Given the description of an element on the screen output the (x, y) to click on. 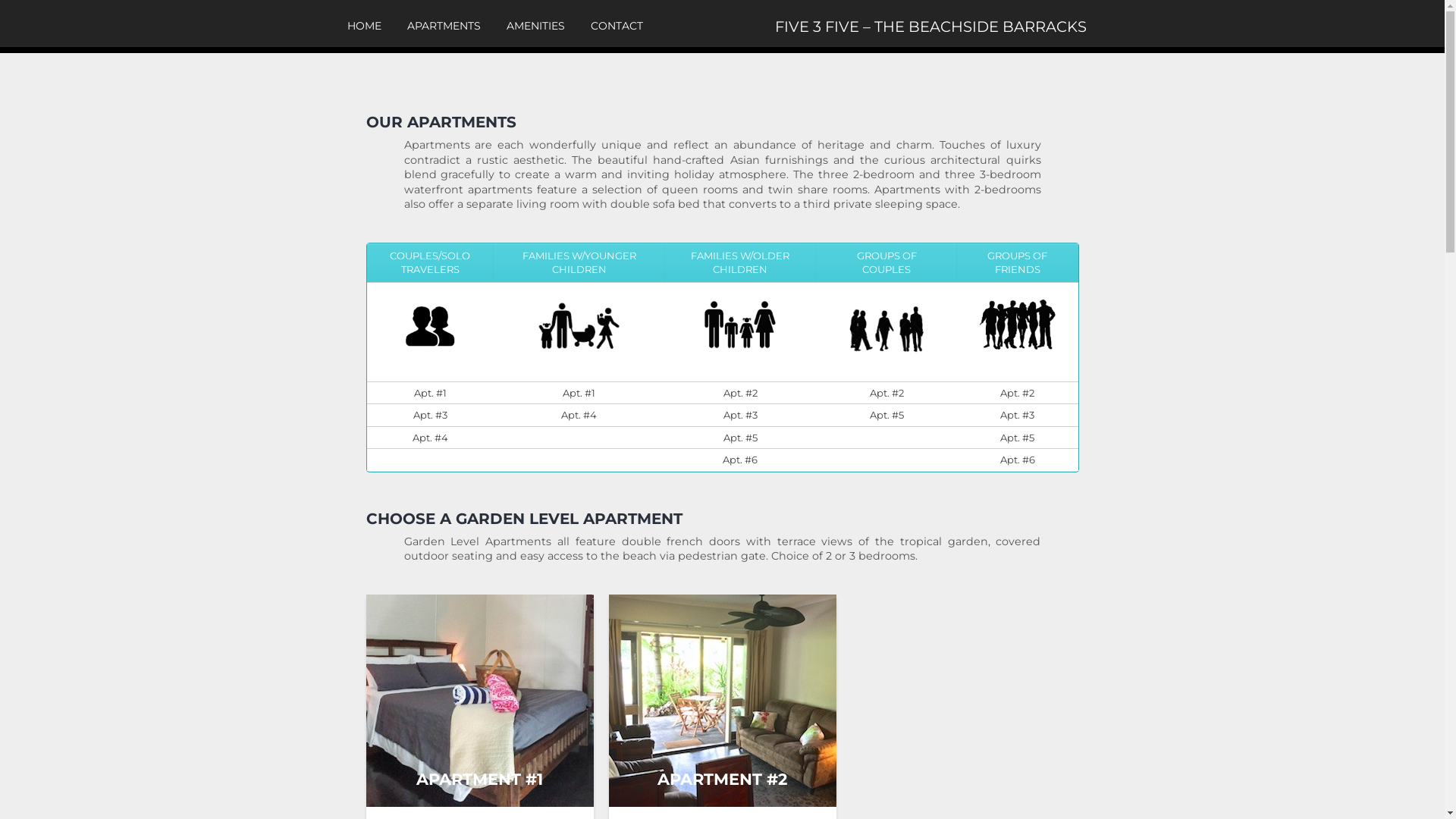
APARTMENTS Element type: text (443, 25)
AMENITIES Element type: text (535, 25)
CONTACT Element type: text (615, 25)
HOME Element type: text (364, 25)
